Given the description of an element on the screen output the (x, y) to click on. 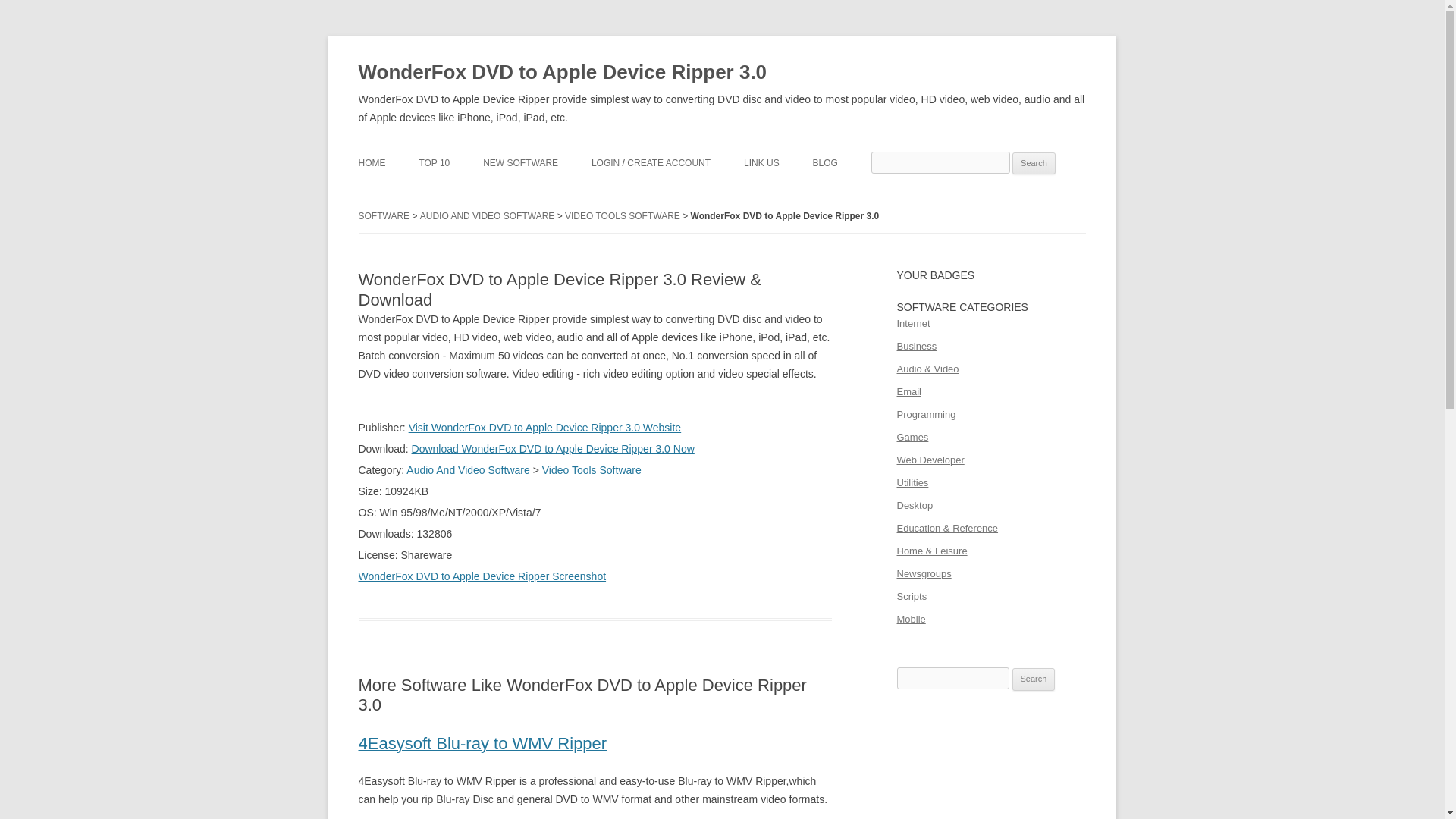
Search (1033, 163)
HOME (371, 162)
Email (908, 391)
NEW SOFTWARE (520, 162)
Desktop (914, 505)
WonderFox DVD to Apple Device Ripper Screenshot (481, 576)
Video Tools Software (591, 469)
4Easysoft Blu-ray to WMV Ripper (482, 745)
Business (916, 346)
Search (1033, 679)
LINK US (761, 162)
Search (1033, 679)
Newsgroups (923, 573)
Programming (925, 414)
TOP 10 (434, 162)
